Given the description of an element on the screen output the (x, y) to click on. 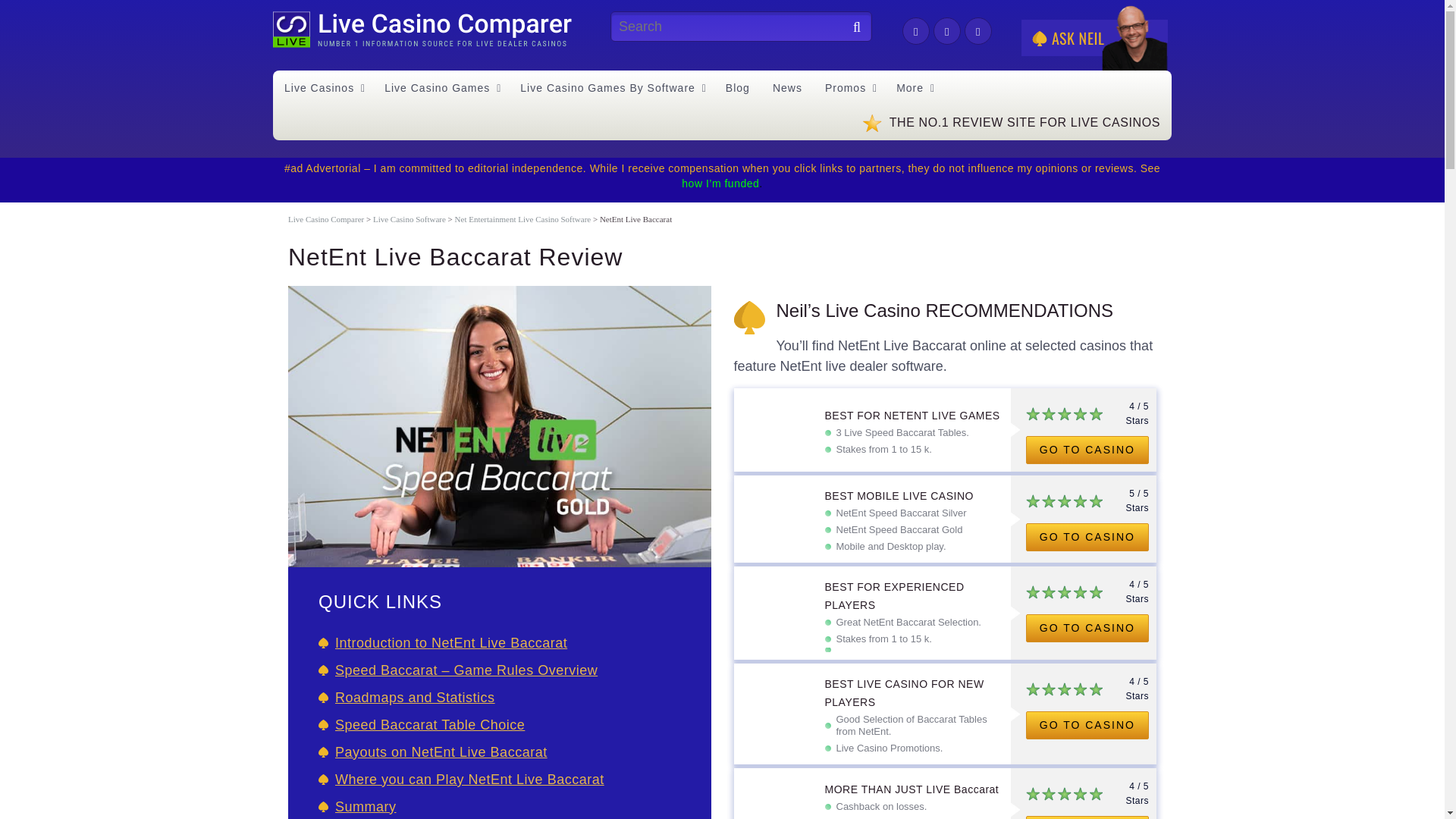
Live Casino Games (440, 87)
Go to Net Entertainment Live Casino Software. (522, 218)
Search (852, 28)
Search (852, 28)
Live Casinos (322, 87)
Search (852, 28)
Go to Live Casino Software. (408, 218)
Go to Live Casino Comparer. (326, 218)
netent live baccarat (499, 426)
